Given the description of an element on the screen output the (x, y) to click on. 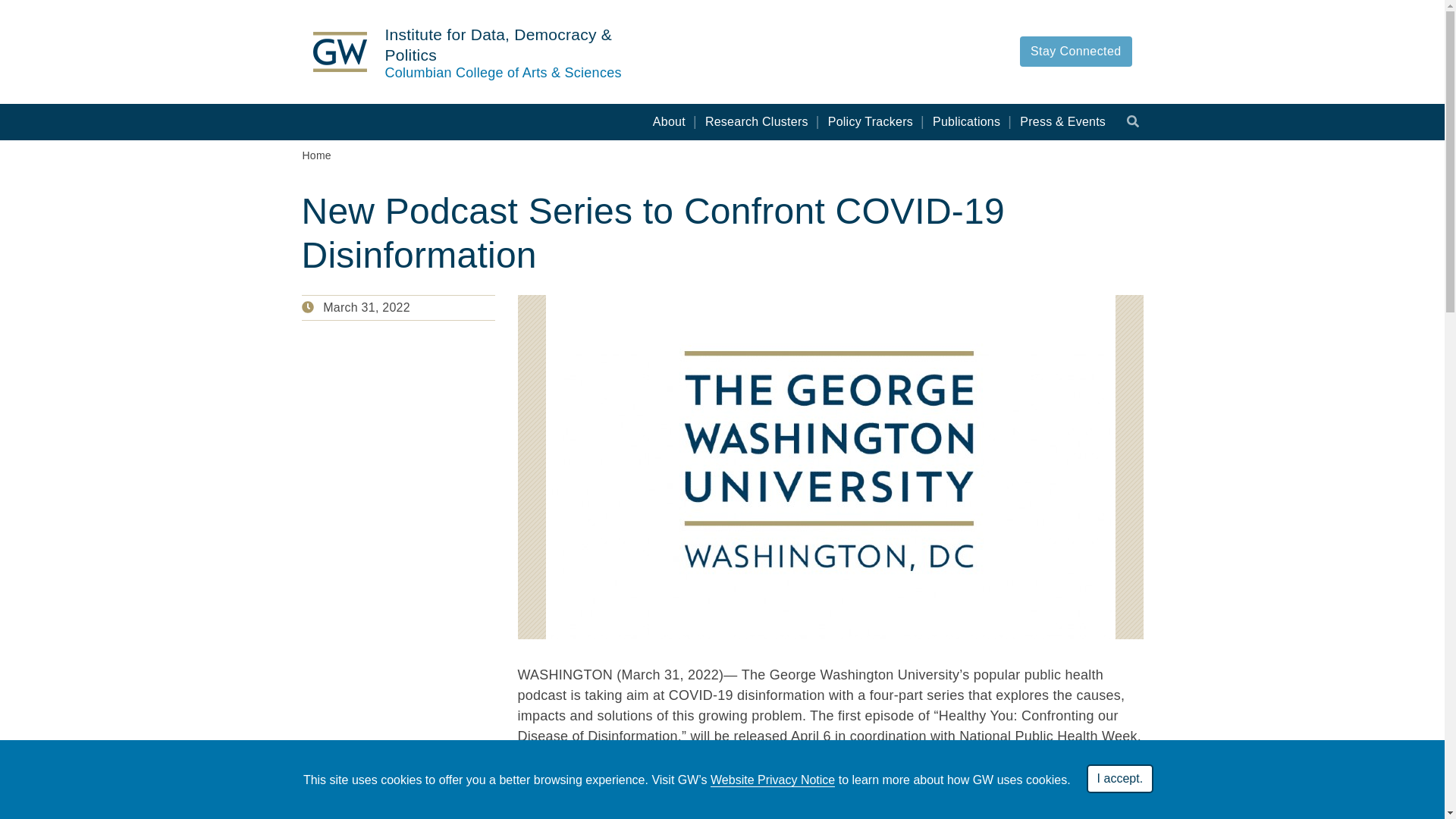
Policy Trackers (869, 122)
Search (1132, 121)
Stay Connected (1075, 51)
About (668, 122)
Search (1132, 121)
Publications (966, 122)
Research Clusters (755, 122)
Stay Connected (1075, 50)
